Given the description of an element on the screen output the (x, y) to click on. 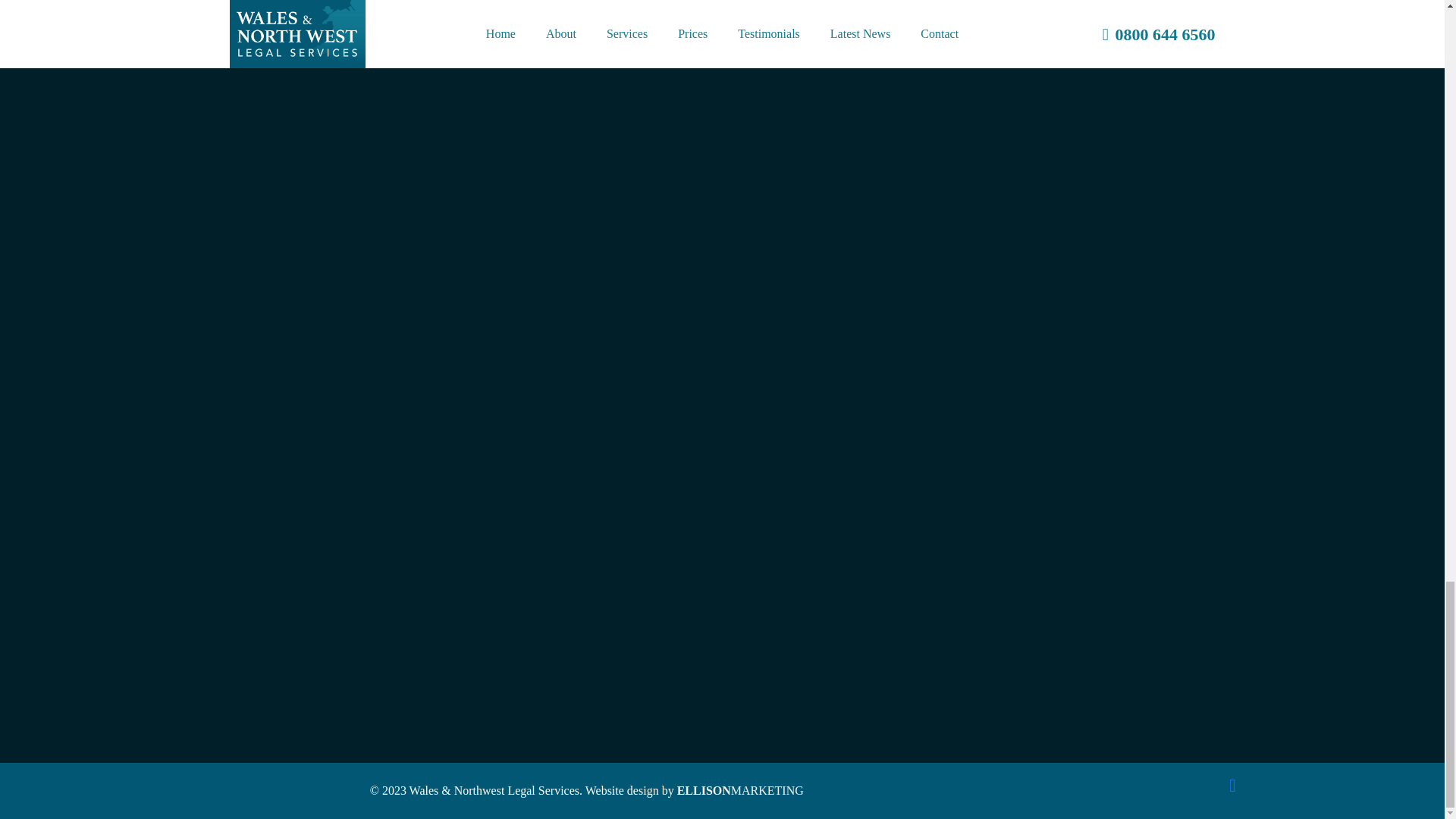
Send Message (791, 497)
ELLISONMARKETING (740, 789)
Facebook (1232, 785)
